Given the description of an element on the screen output the (x, y) to click on. 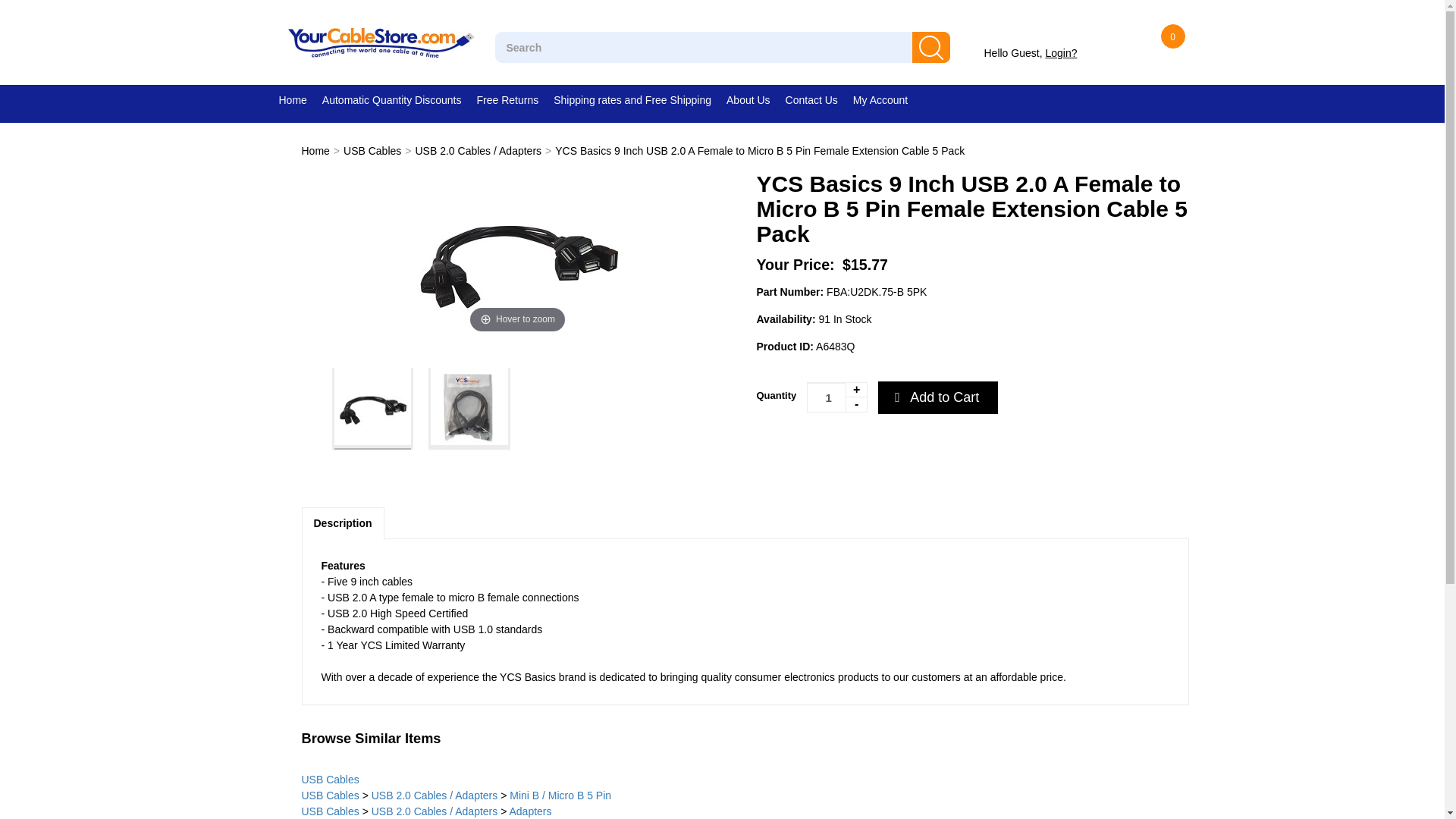
USB Cables (372, 150)
Home (300, 100)
Home (315, 150)
About Us (756, 100)
1 (836, 397)
Shipping rates and Free Shipping (639, 100)
Login? (1061, 52)
Automatic Quantity Discounts (399, 100)
Contact Us (819, 100)
My Account (888, 100)
Free Returns (514, 100)
